Given the description of an element on the screen output the (x, y) to click on. 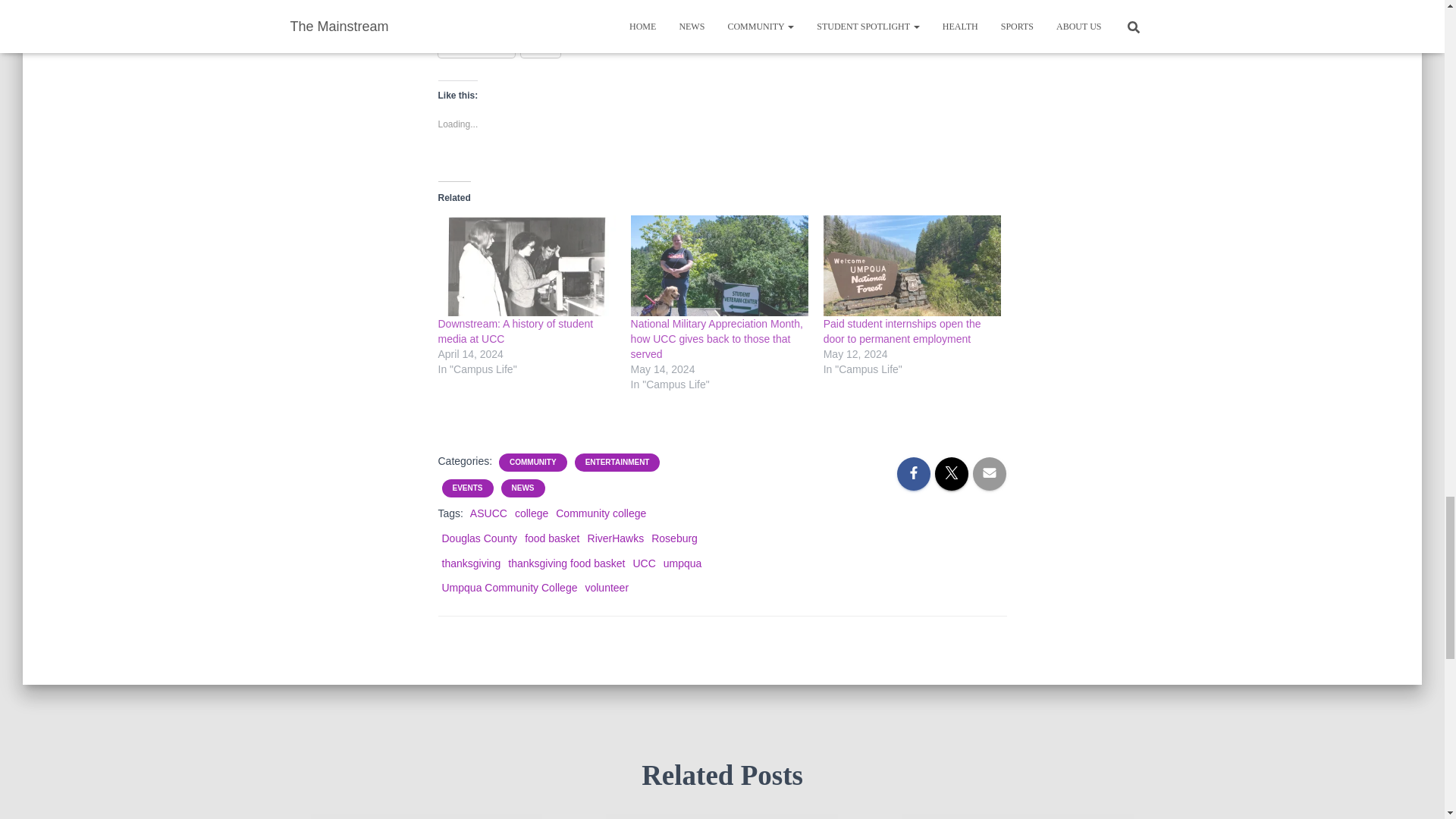
ASUCC (488, 512)
Facebook (476, 46)
EVENTS (466, 488)
COMMUNITY (532, 462)
Downstream: A history of student media at UCC (516, 330)
NEWS (523, 488)
ENTERTAINMENT (616, 462)
X (540, 46)
